Given the description of an element on the screen output the (x, y) to click on. 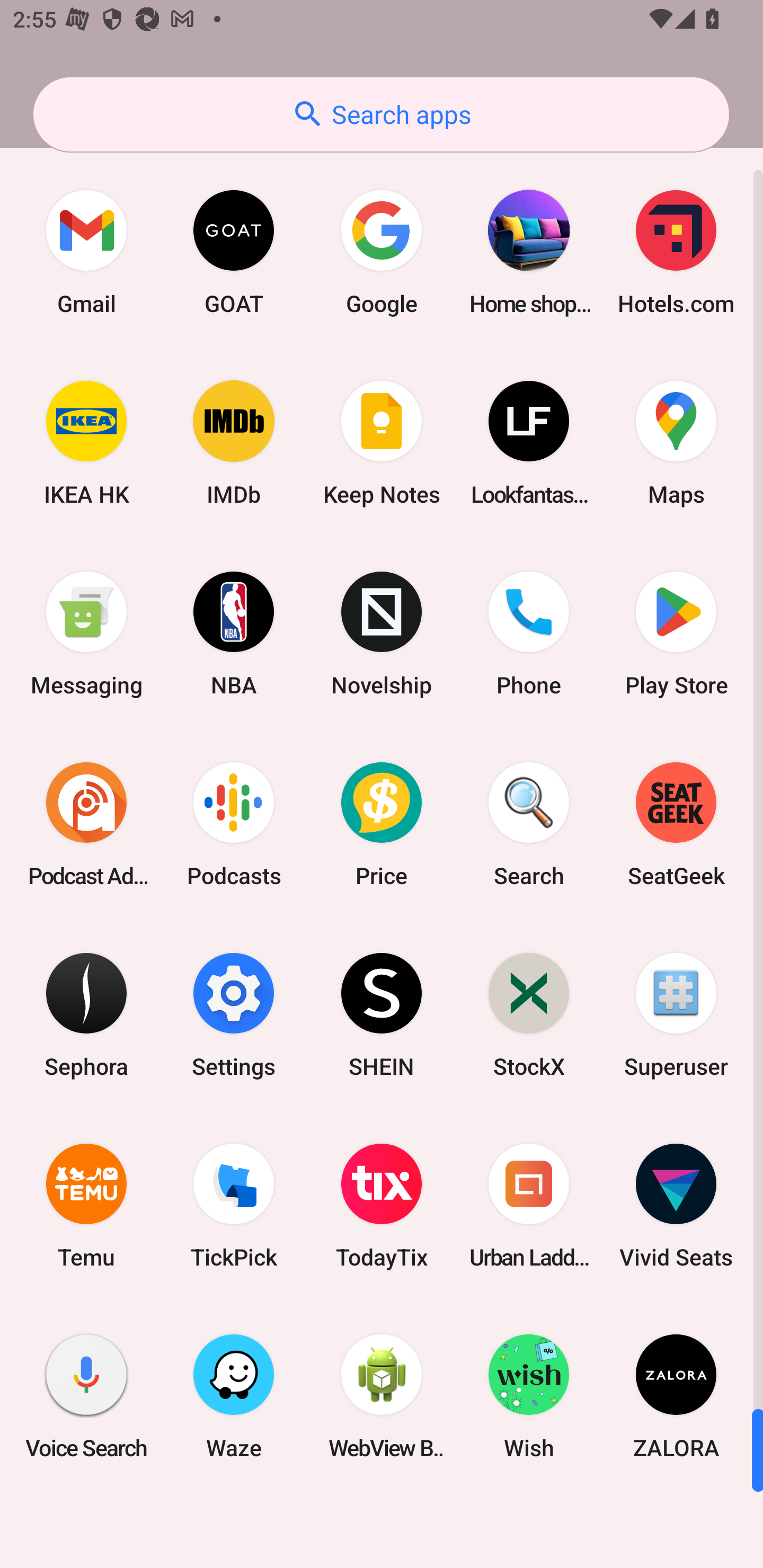
  Search apps (381, 114)
Gmail (86, 252)
GOAT (233, 252)
Google (381, 252)
Home shopping (528, 252)
Hotels.com (676, 252)
IKEA HK (86, 442)
IMDb (233, 442)
Keep Notes (381, 442)
Lookfantastic (528, 442)
Maps (676, 442)
Messaging (86, 633)
NBA (233, 633)
Novelship (381, 633)
Phone (528, 633)
Play Store (676, 633)
Podcast Addict (86, 823)
Podcasts (233, 823)
Price (381, 823)
Search (528, 823)
SeatGeek (676, 823)
Sephora (86, 1014)
Settings (233, 1014)
SHEIN (381, 1014)
StockX (528, 1014)
Superuser (676, 1014)
Temu (86, 1205)
TickPick (233, 1205)
TodayTix (381, 1205)
Urban Ladder (528, 1205)
Vivid Seats (676, 1205)
Voice Search (86, 1396)
Waze (233, 1396)
WebView Browser Tester (381, 1396)
Wish (528, 1396)
ZALORA (676, 1396)
